Given the description of an element on the screen output the (x, y) to click on. 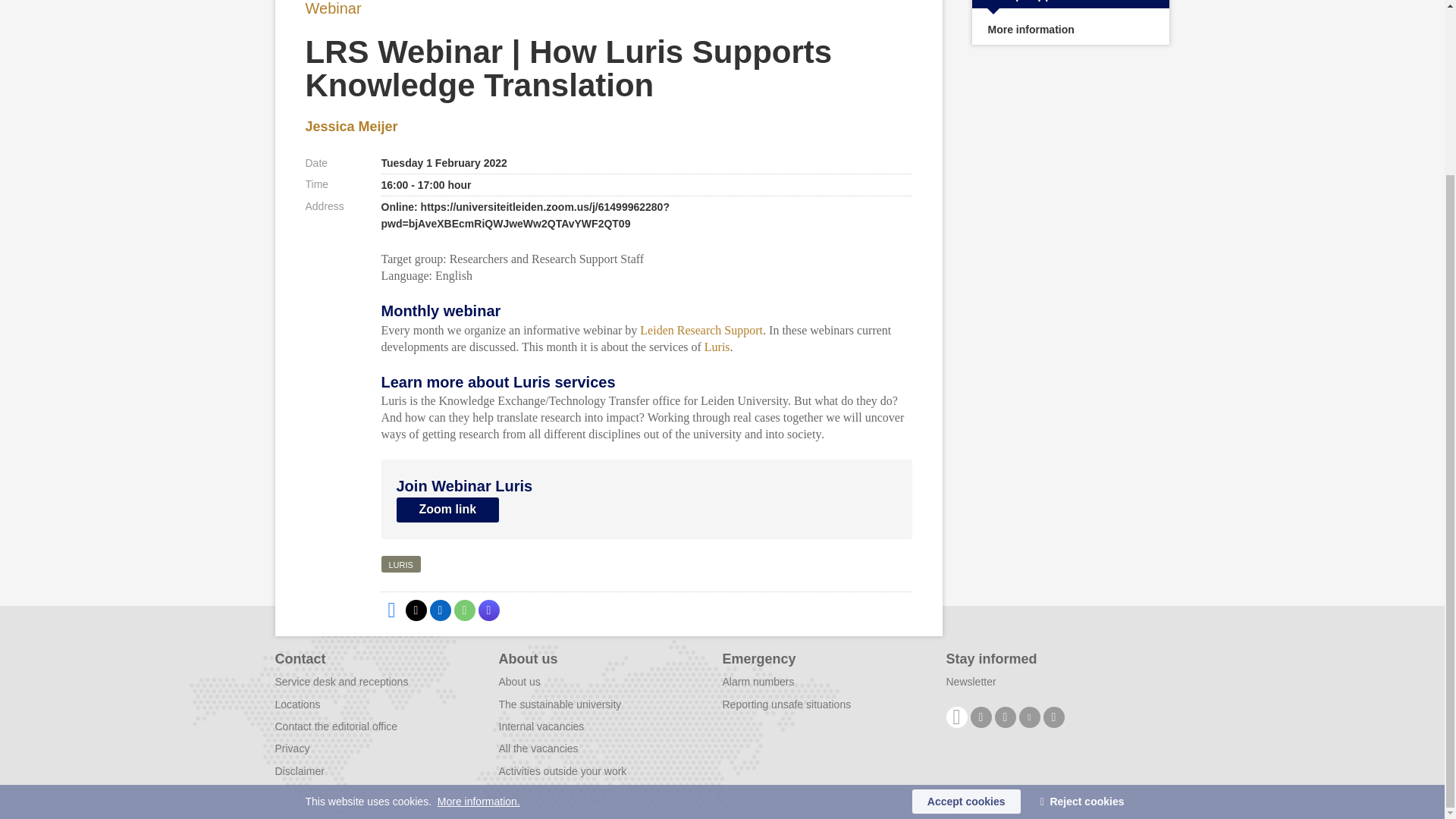
Share on LinkedIn (439, 609)
Share by Mastodon (488, 609)
Share on Facebook (390, 609)
Share on X (415, 609)
Share by WhatsApp (463, 609)
